Given the description of an element on the screen output the (x, y) to click on. 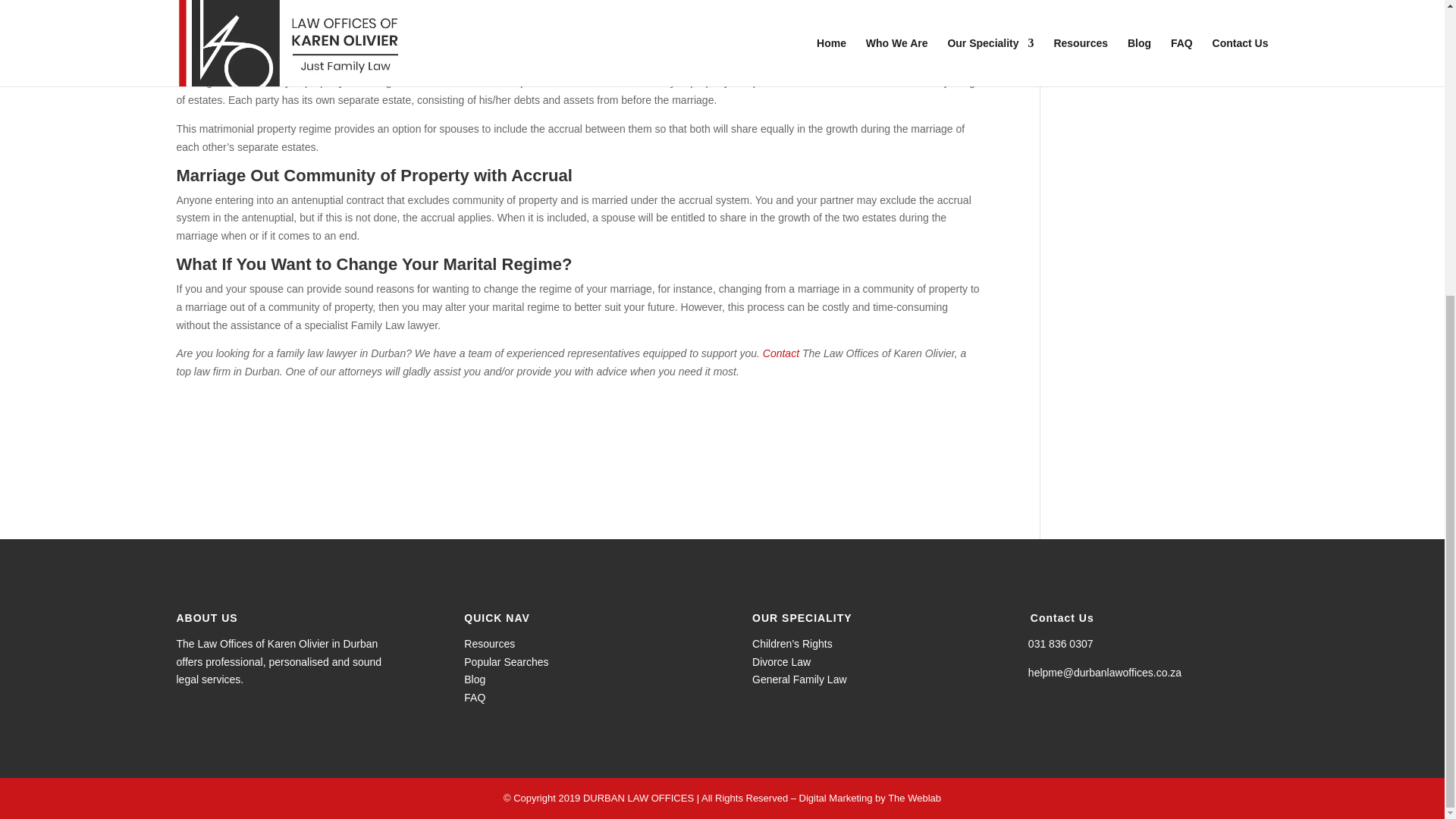
Resources (489, 644)
Divorce Law (781, 662)
antenuptial contract (533, 81)
Popular Searches (506, 662)
General Family Law (799, 679)
Blog (474, 679)
031 836 0307 (1060, 644)
Contact (780, 353)
Web Design Company (914, 797)
FAQ (474, 697)
Digital Marketing (835, 797)
Digital Marketing Company (835, 797)
The Weblab (914, 797)
